Given the description of an element on the screen output the (x, y) to click on. 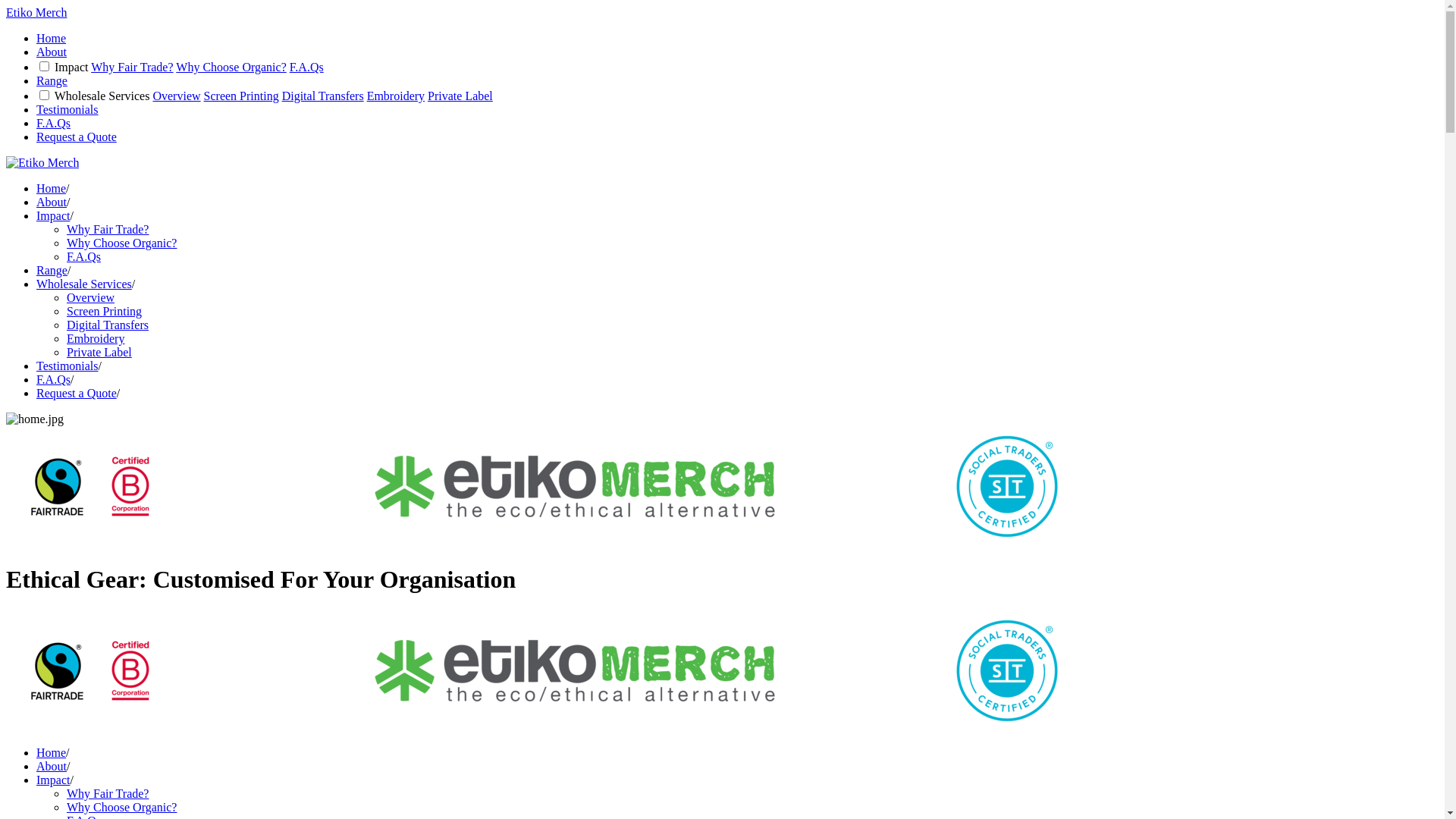
About Element type: text (51, 51)
F.A.Qs Element type: text (306, 66)
Embroidery Element type: text (395, 95)
Overview Element type: text (176, 95)
F.A.Qs Element type: text (53, 379)
Request a Quote Element type: text (76, 136)
Embroidery Element type: text (95, 338)
Private Label Element type: text (459, 95)
F.A.Qs Element type: text (83, 256)
Screen Printing Element type: text (241, 95)
About Element type: text (51, 765)
Why Fair Trade? Element type: text (107, 228)
Home Element type: text (50, 37)
Impact Element type: text (52, 215)
Screen Printing Element type: text (103, 310)
Home Element type: text (50, 188)
Overview Element type: text (90, 297)
Testimonials Element type: text (67, 365)
Etiko Merch Element type: text (36, 12)
Range Element type: text (51, 269)
About Element type: text (51, 201)
Testimonials Element type: text (67, 109)
Impact Element type: text (52, 779)
Why Choose Organic? Element type: text (121, 242)
Home Element type: text (50, 752)
Wholesale Services Element type: text (83, 283)
F.A.Qs Element type: text (53, 122)
Why Choose Organic? Element type: text (230, 66)
Request a Quote Element type: text (76, 392)
Range Element type: text (51, 80)
Digital Transfers Element type: text (323, 95)
Why Choose Organic? Element type: text (121, 806)
Why Fair Trade? Element type: text (131, 66)
Digital Transfers Element type: text (107, 324)
Private Label Element type: text (98, 351)
Why Fair Trade? Element type: text (107, 793)
